Given the description of an element on the screen output the (x, y) to click on. 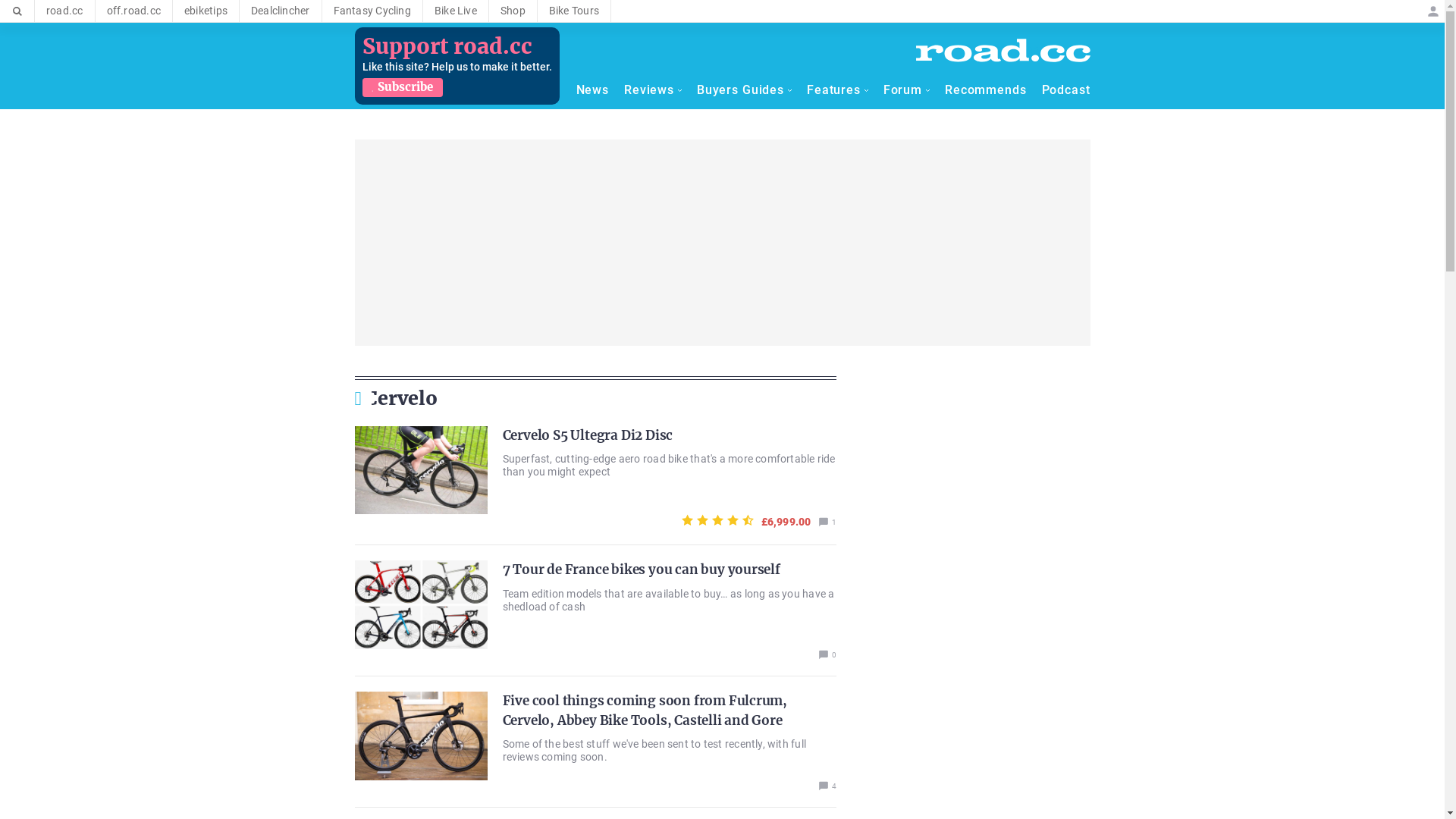
Home Element type: hover (1003, 50)
Subscribe Element type: text (402, 87)
Bike Live Element type: text (455, 10)
Reviews Element type: text (652, 90)
Buyers Guides Element type: text (743, 90)
Shop Element type: text (512, 10)
7 Tour de France bikes you can buy yourself June 2019 Element type: hover (420, 604)
Podcast Element type: text (1065, 90)
ebiketips Element type: text (205, 10)
News Element type: text (592, 90)
Recommends Element type: text (985, 90)
Bike Tours Element type: text (573, 10)
Cervelo S5 UItegra Di2.jpg Element type: hover (420, 735)
off.road.cc Element type: text (133, 10)
Dealclincher Element type: text (280, 10)
Fantasy Cycling Element type: text (372, 10)
road.cc Element type: text (64, 10)
Features Element type: text (837, 90)
Forum Element type: text (906, 90)
